Given the description of an element on the screen output the (x, y) to click on. 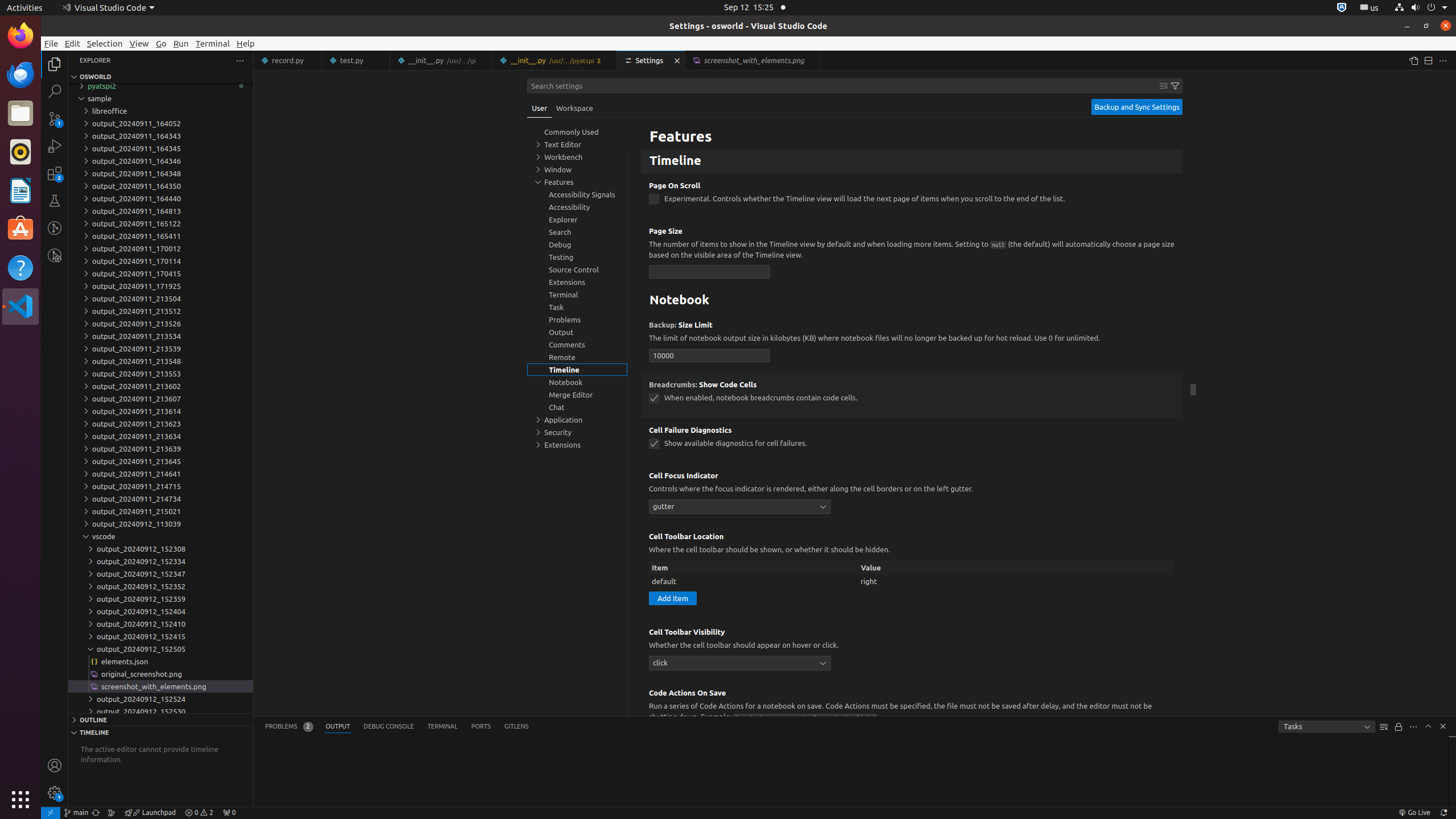
Run and Debug (Ctrl+Shift+D) Element type: page-tab (54, 145)
Backup and Sync Settings Element type: push-button (1136, 106)
Show the GitLens Commit Graph Element type: push-button (111, 812)
Output, group Element type: tree-item (577, 331)
Timeline Element type: tree-item (911, 161)
